Given the description of an element on the screen output the (x, y) to click on. 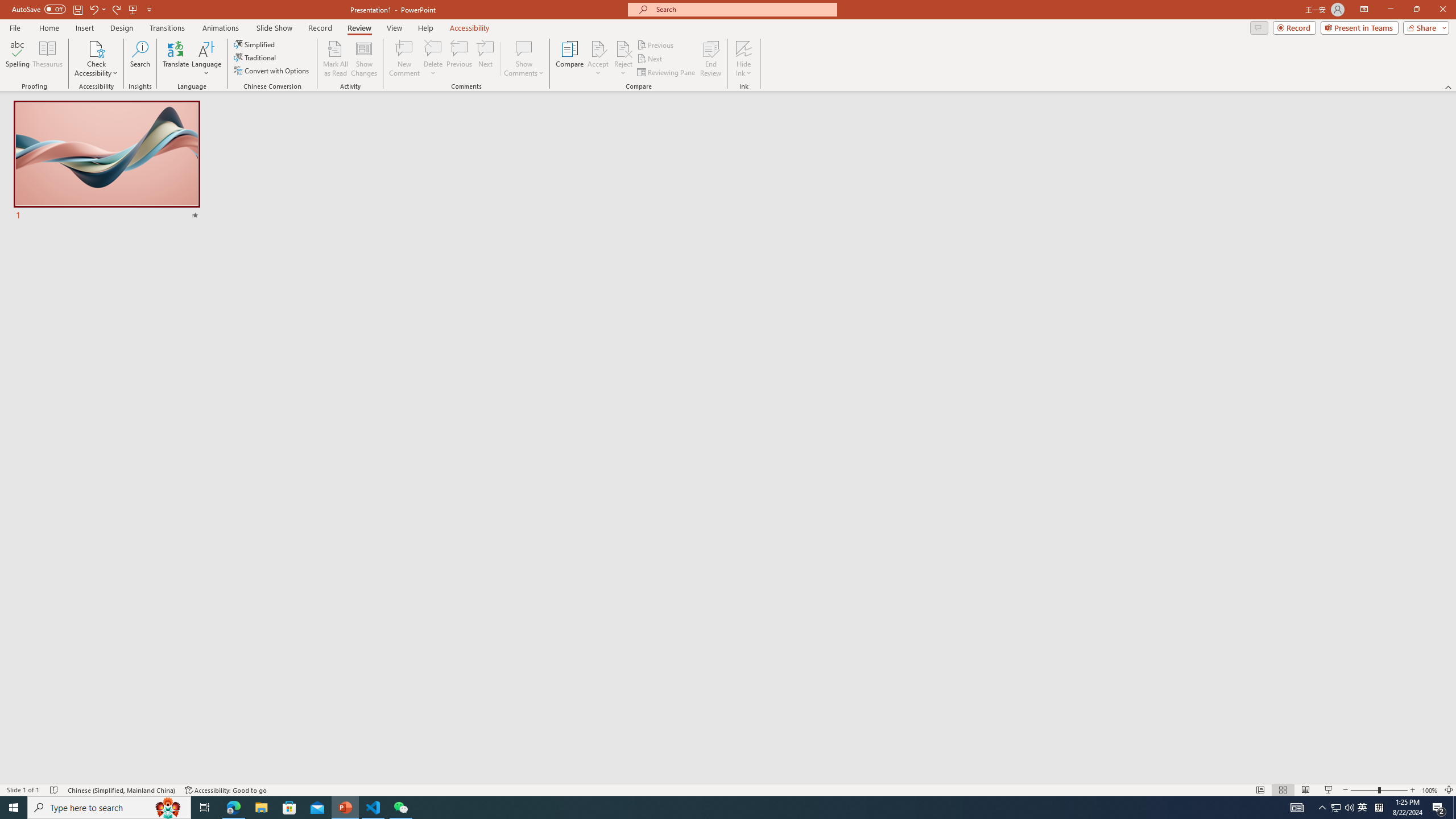
Hide Ink (743, 48)
